Given the description of an element on the screen output the (x, y) to click on. 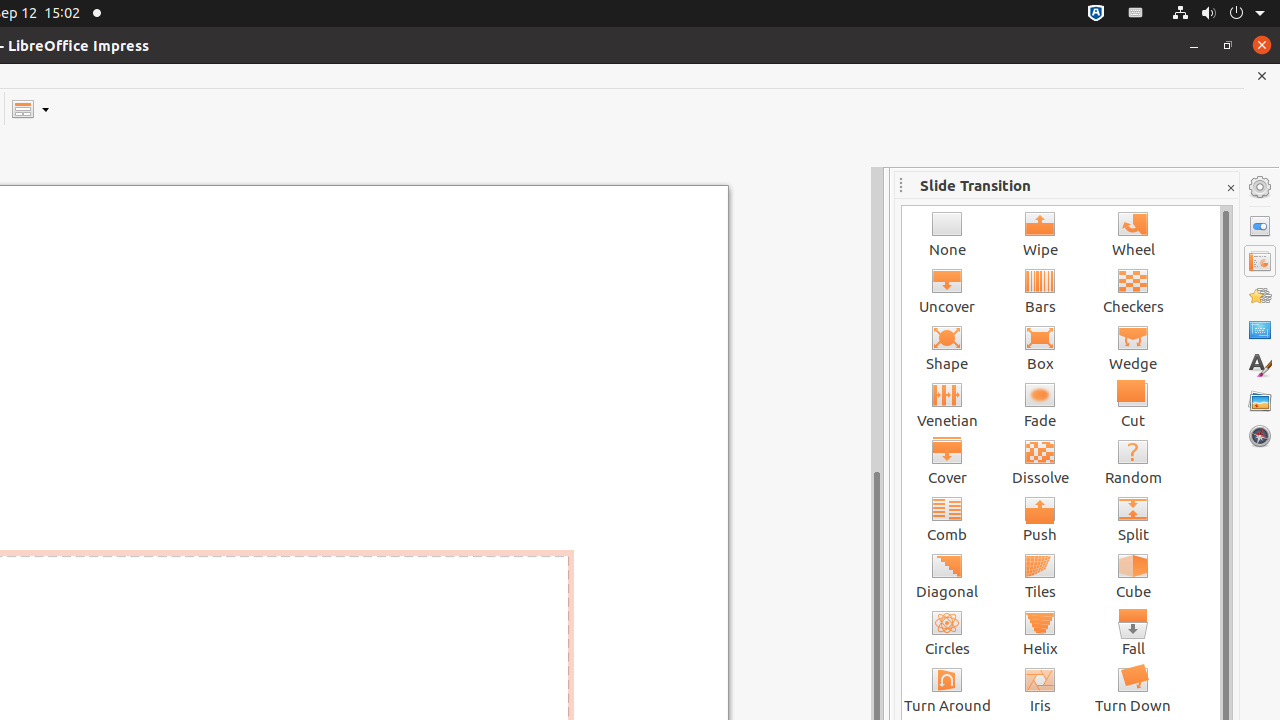
Bars Element type: list-item (1040, 290)
Uncover Element type: list-item (947, 290)
Animation Element type: radio-button (1260, 296)
